Given the description of an element on the screen output the (x, y) to click on. 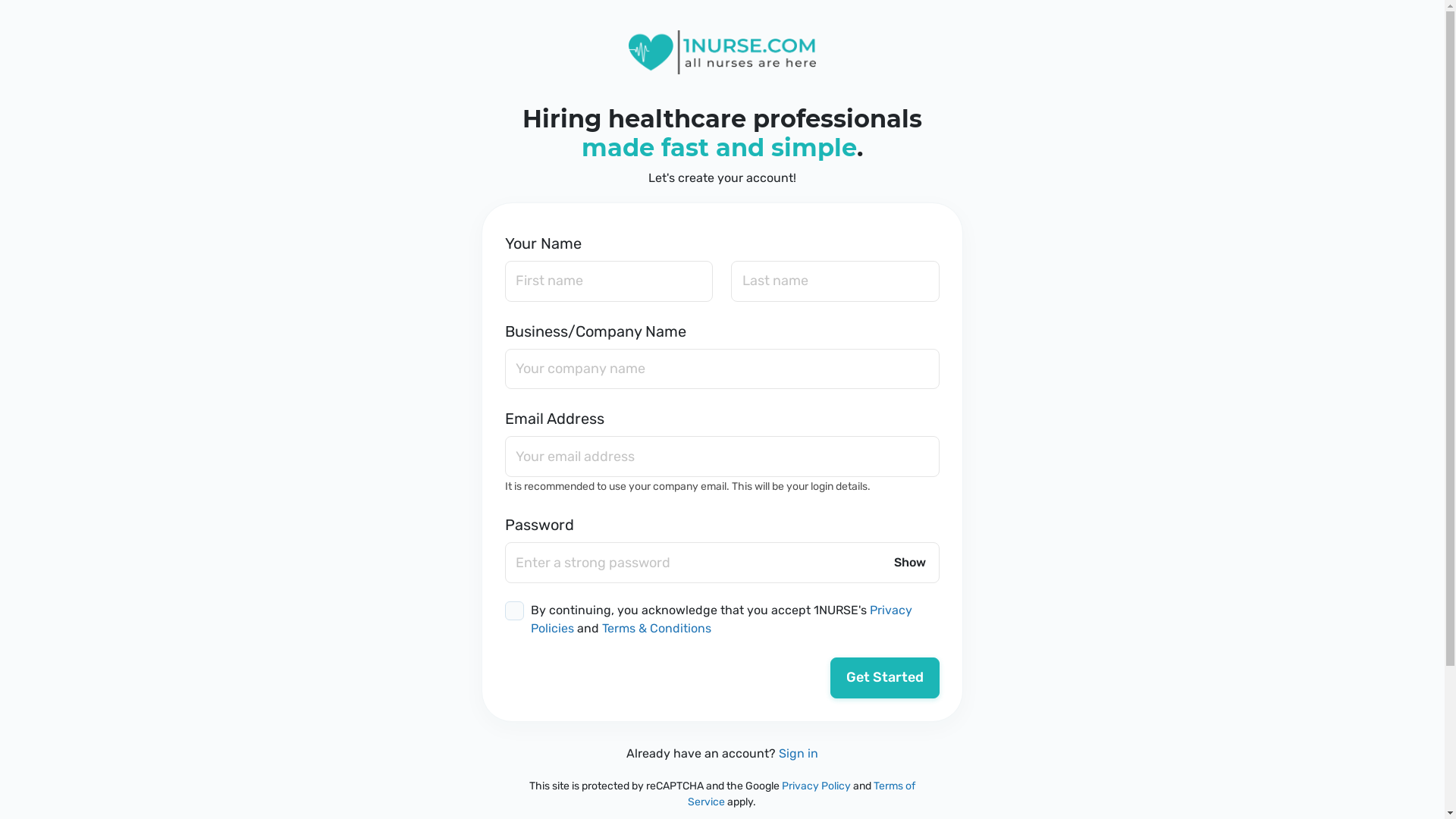
Terms & Conditions Element type: text (656, 628)
Sign in Element type: text (798, 753)
Get Started Element type: text (884, 677)
Privacy Policies Element type: text (721, 618)
Privacy Policy Element type: text (815, 785)
Terms of Service Element type: text (801, 793)
